Given the description of an element on the screen output the (x, y) to click on. 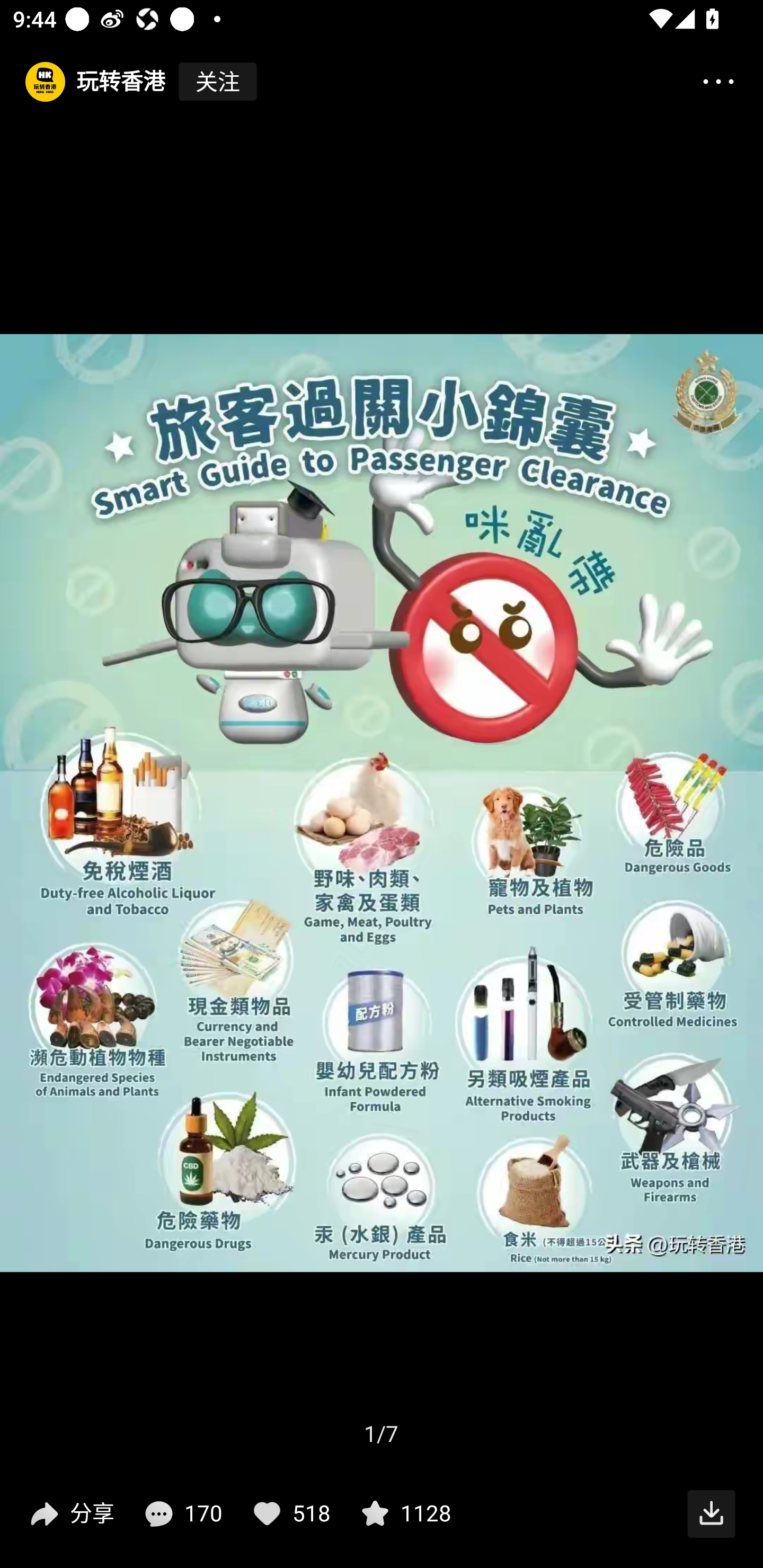
玩转香港 关注 关注 (128, 81)
关注 (217, 81)
分享 (69, 1513)
评论,170 170 (180, 1513)
收藏,1128 1128 (403, 1513)
